Given the description of an element on the screen output the (x, y) to click on. 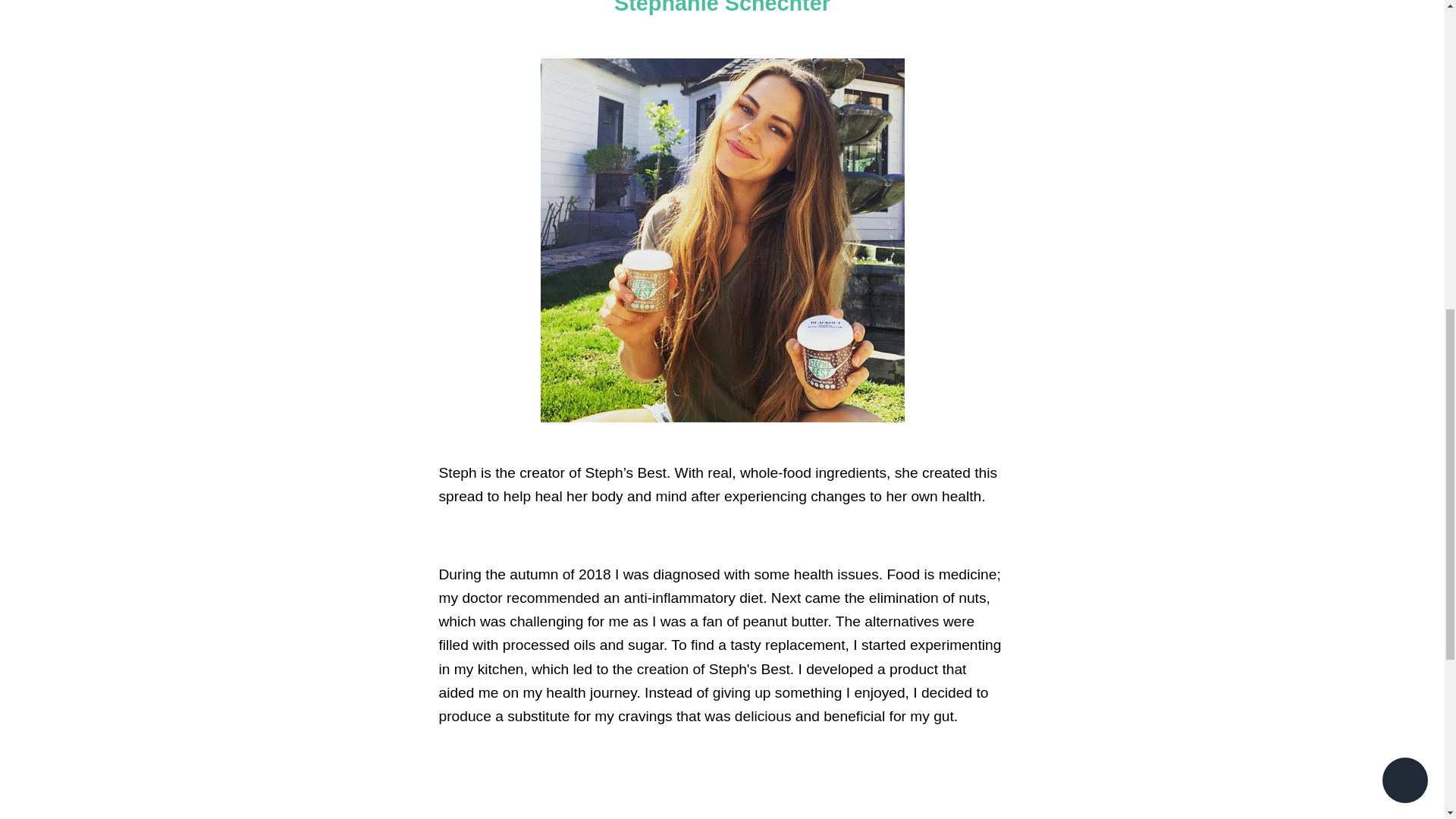
Google Pay (1057, 58)
PayPal (953, 82)
Visa (1057, 82)
Apple Pay (918, 58)
Diners Club (953, 58)
Shop Pay (988, 82)
Shopify online store chat (1404, 86)
Mastercard (918, 82)
Discover (988, 58)
Taste SoL (768, 69)
